Given the description of an element on the screen output the (x, y) to click on. 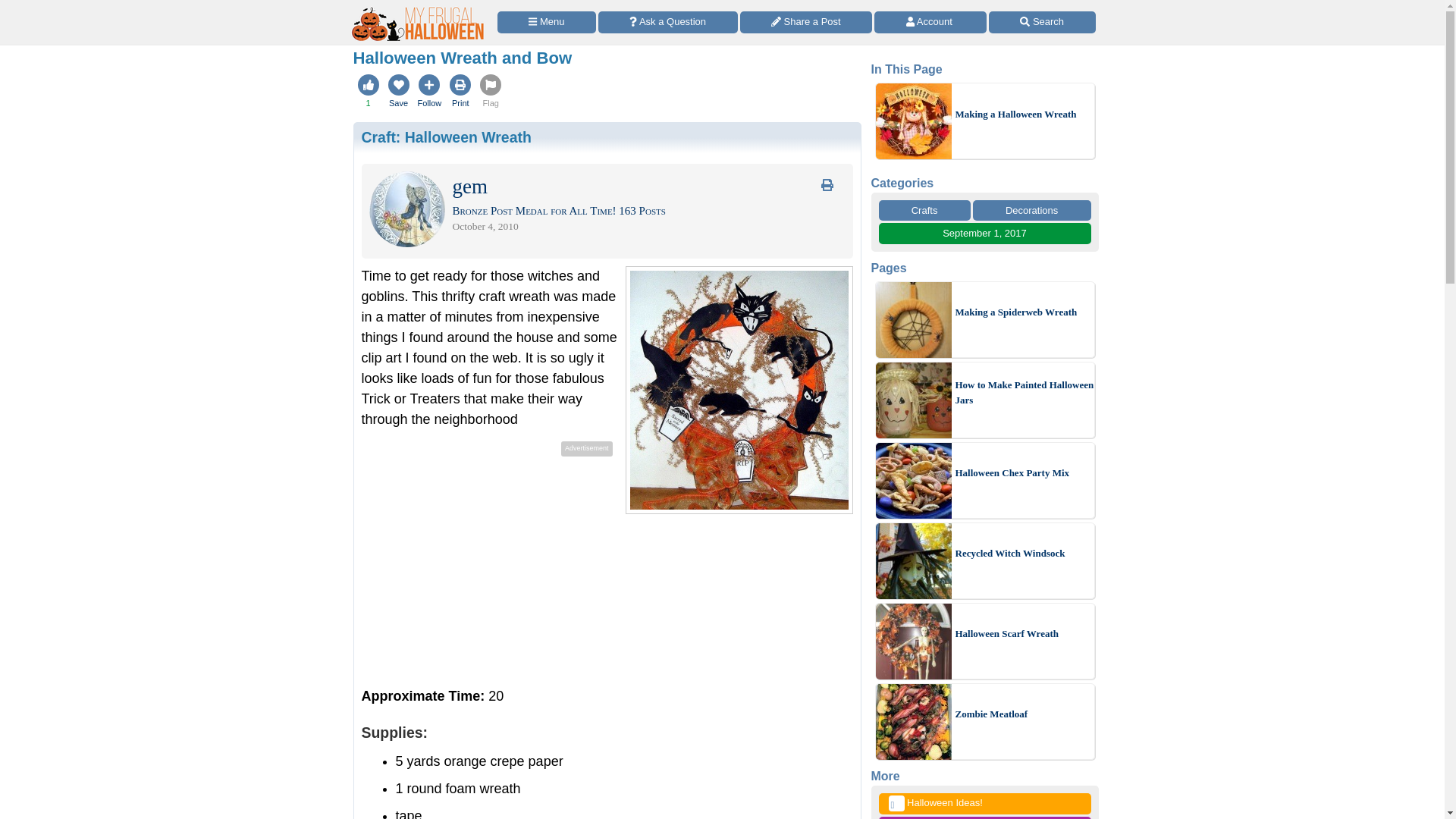
 Ask a Question (668, 22)
Craft: Halloween Wreath (446, 136)
gem (469, 189)
 Menu (546, 22)
